Given the description of an element on the screen output the (x, y) to click on. 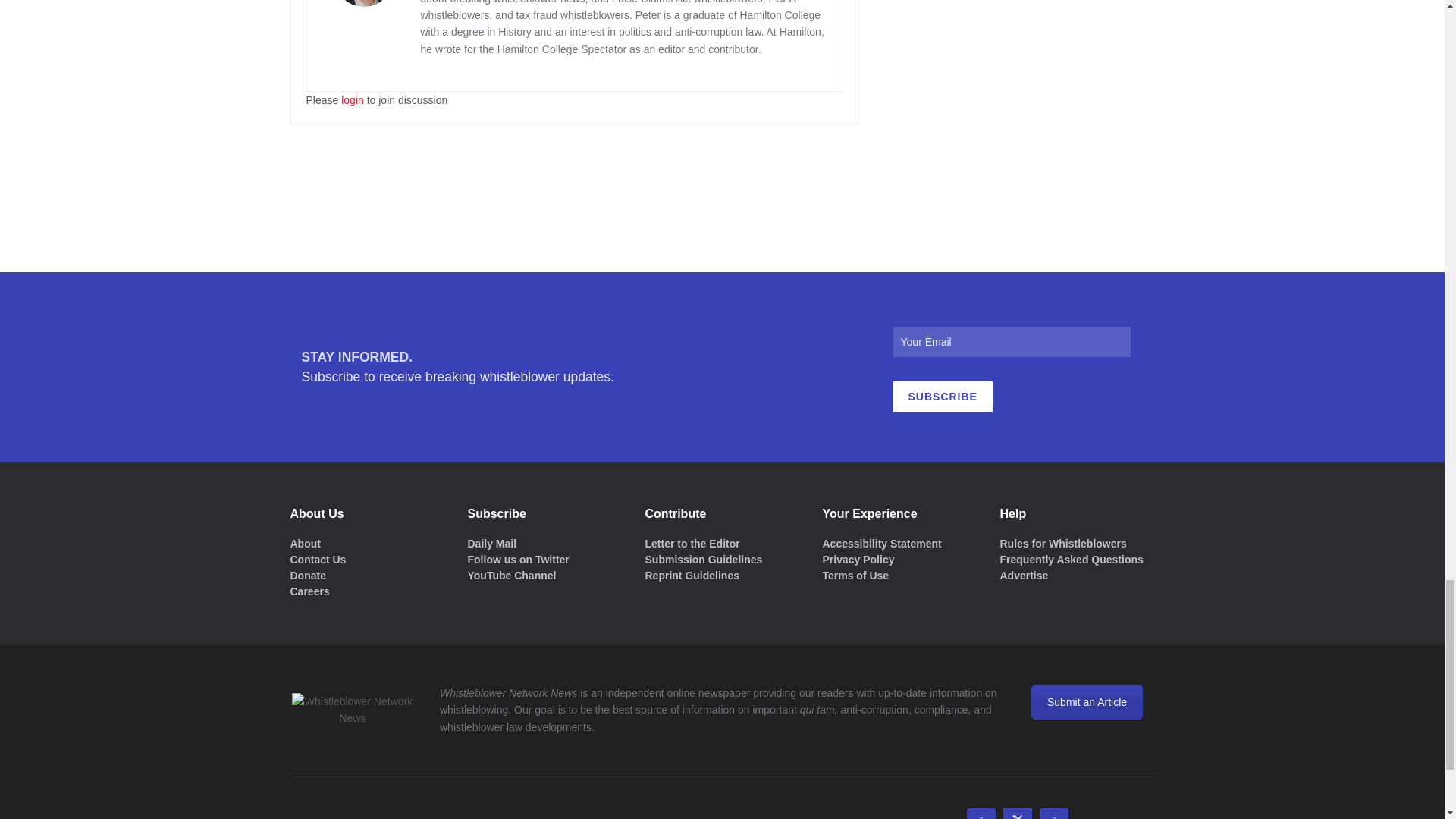
Donate Today (306, 575)
About Us (304, 543)
Subscribe (942, 396)
